Given the description of an element on the screen output the (x, y) to click on. 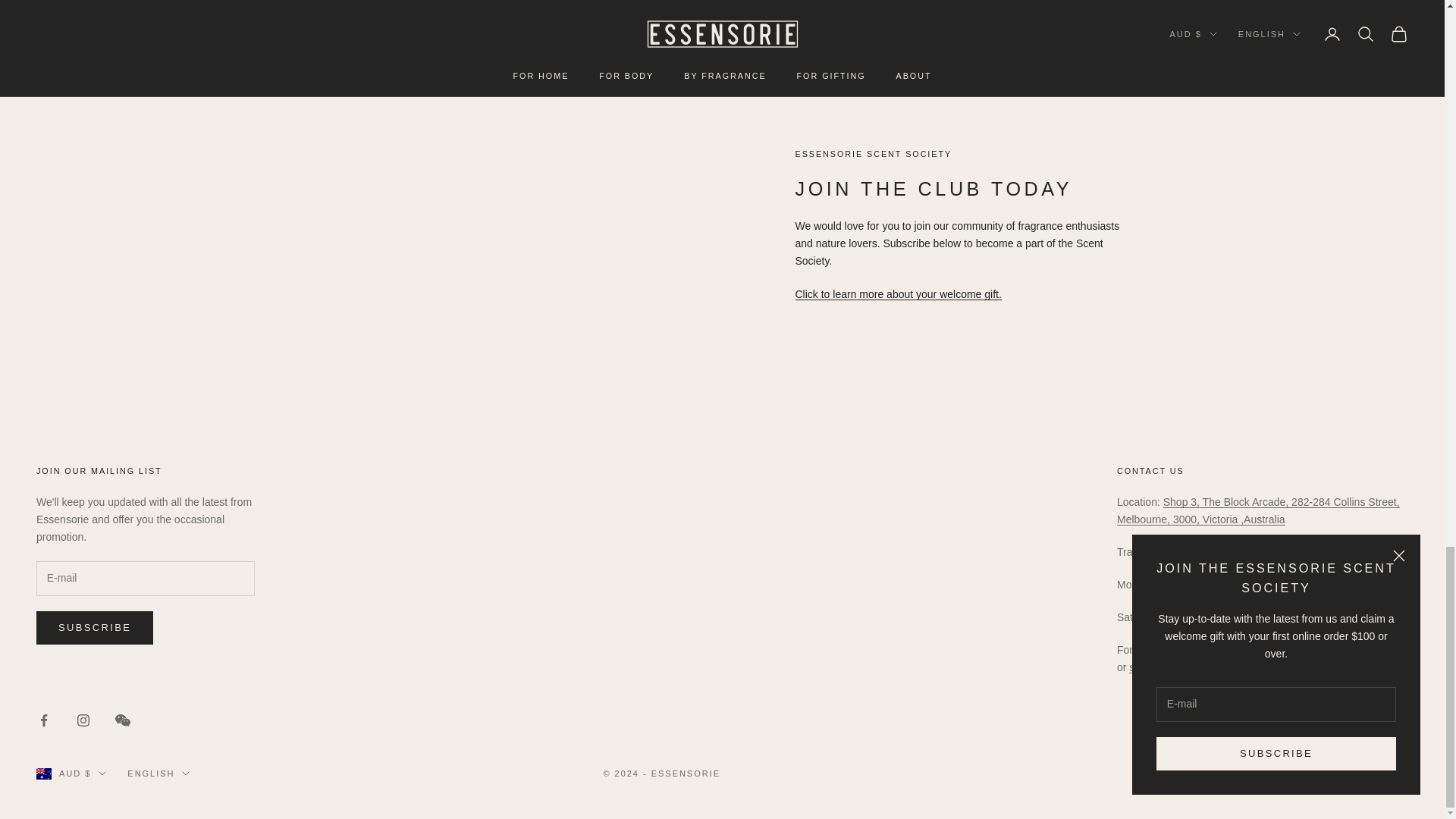
Join The Club Today (897, 294)
Contact Us (1169, 666)
